Given the description of an element on the screen output the (x, y) to click on. 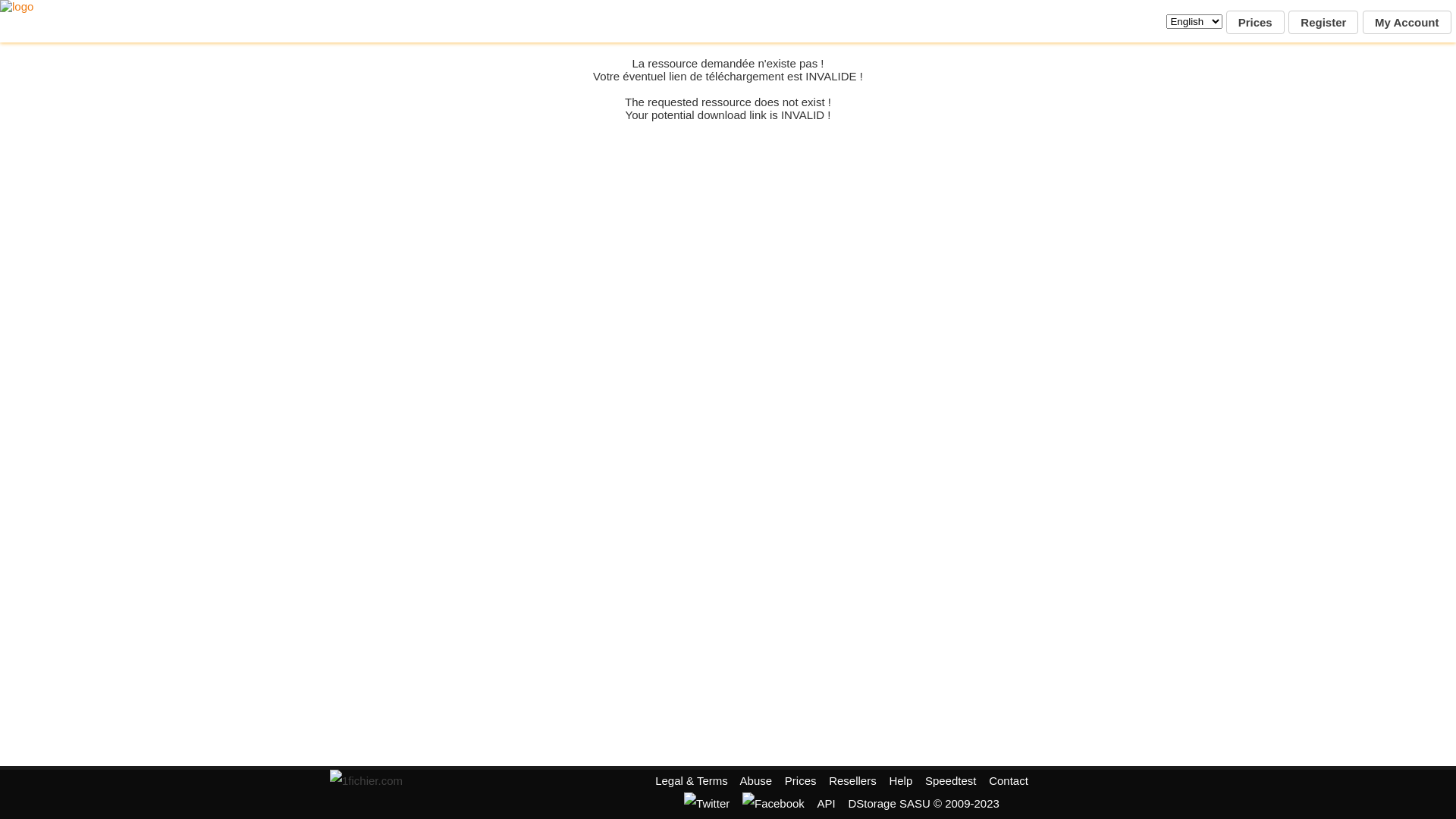
Resellers Element type: text (852, 780)
My Account Element type: text (1406, 22)
Prices Element type: text (800, 780)
Register Element type: text (1323, 22)
API Element type: text (826, 803)
Abuse Element type: text (756, 780)
Help Element type: text (900, 780)
Prices Element type: text (1255, 22)
Legal & Terms Element type: text (691, 780)
Contact Element type: text (1008, 780)
Speedtest Element type: text (950, 780)
